Given the description of an element on the screen output the (x, y) to click on. 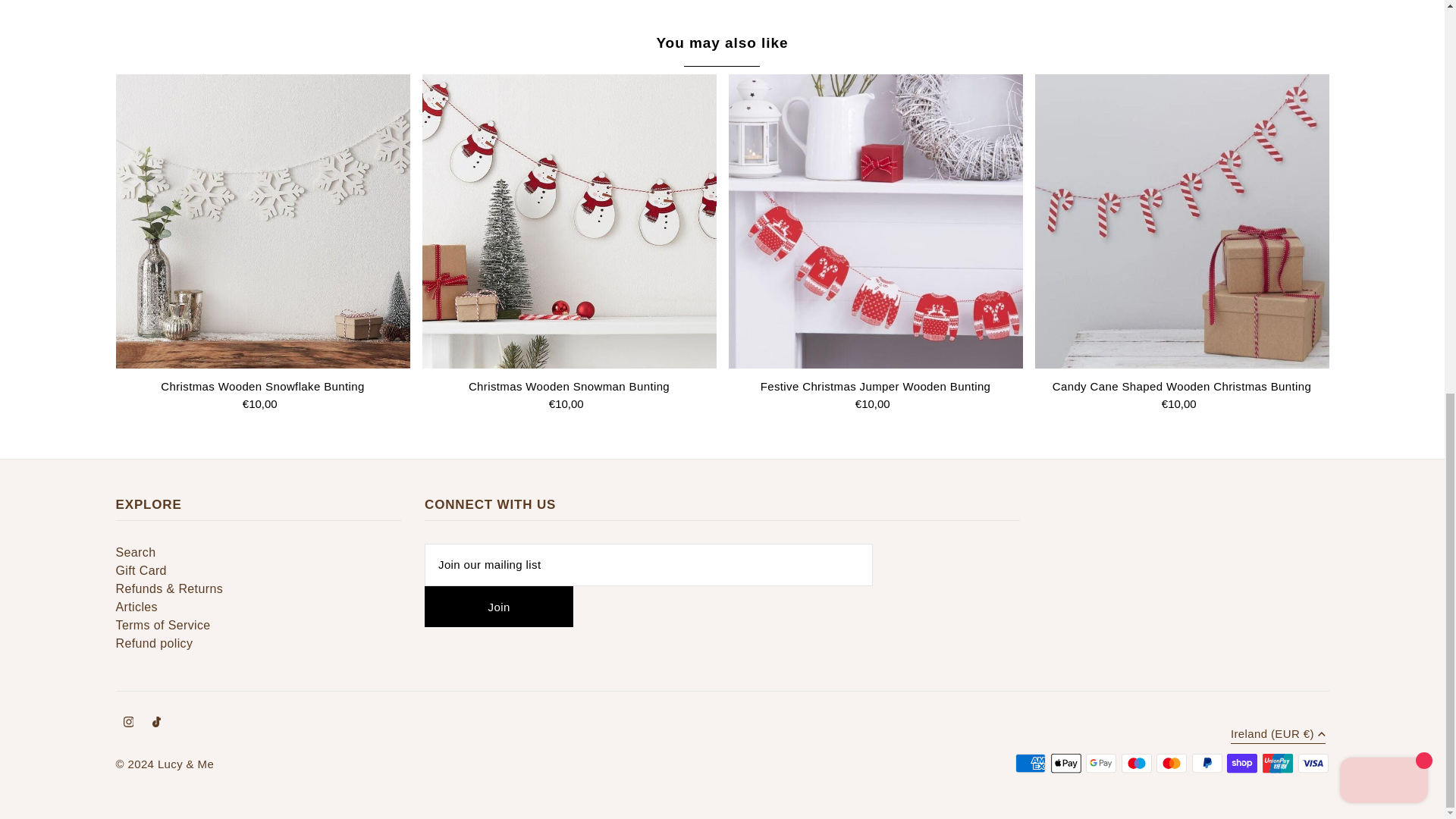
Join (499, 606)
Visa (1312, 763)
American Express (1029, 763)
Google Pay (1101, 763)
Festive Christmas Jumper Wooden Bunting (875, 221)
Christmas Wooden Snowflake Bunting (262, 221)
Apple Pay (1066, 763)
Union Pay (1277, 763)
Shop Pay (1242, 763)
Maestro (1136, 763)
Christmas Wooden Snowman Bunting (569, 221)
Candy Cane Shaped Wooden Christmas Bunting (1180, 221)
PayPal (1207, 763)
Mastercard (1171, 763)
